Given the description of an element on the screen output the (x, y) to click on. 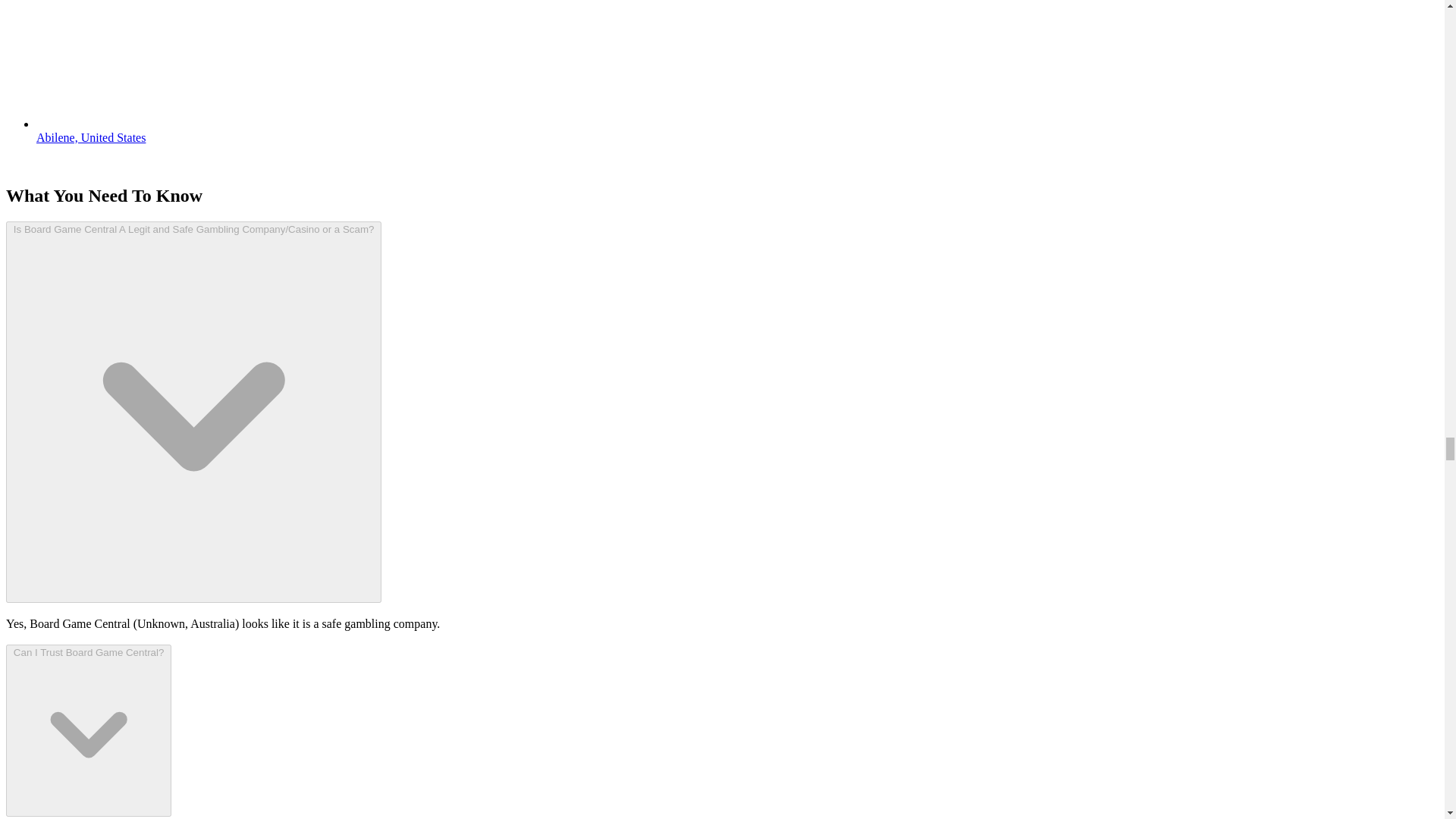
Can I Trust Board Game Central? (88, 729)
Abilene, United States (90, 137)
